Given the description of an element on the screen output the (x, y) to click on. 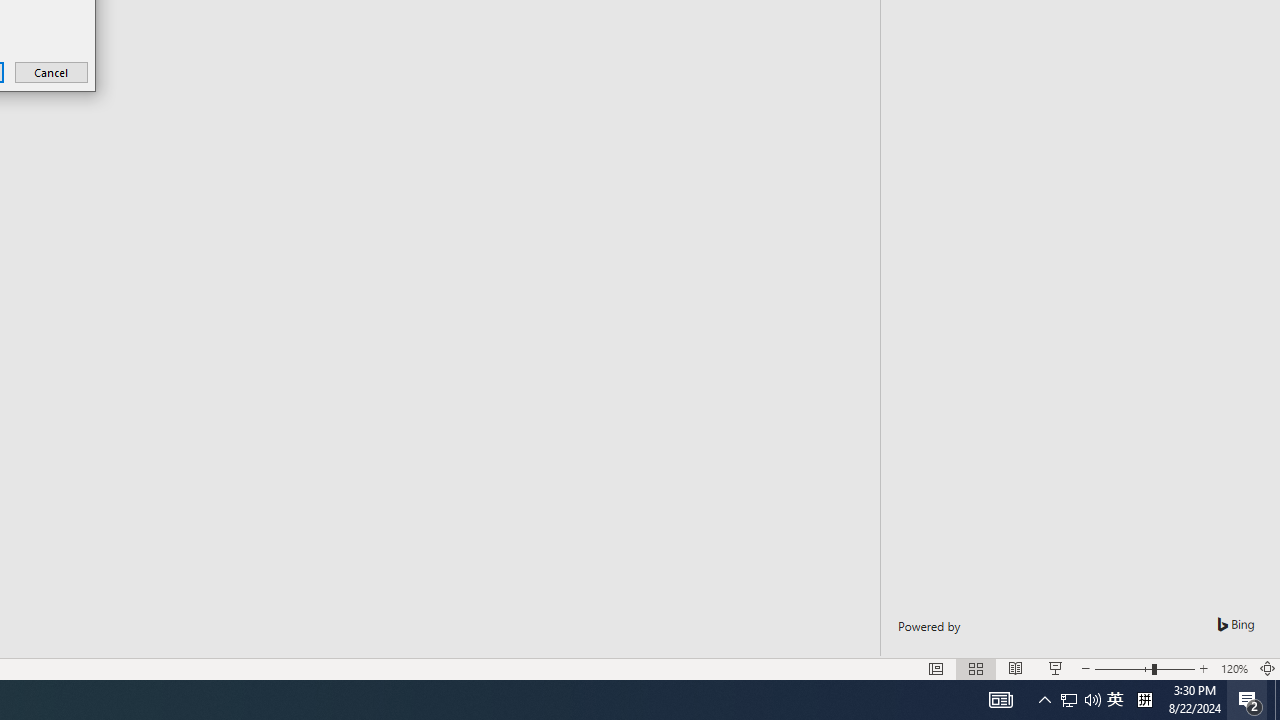
Cancel (51, 72)
Action Center, 2 new notifications (1250, 699)
